Given the description of an element on the screen output the (x, y) to click on. 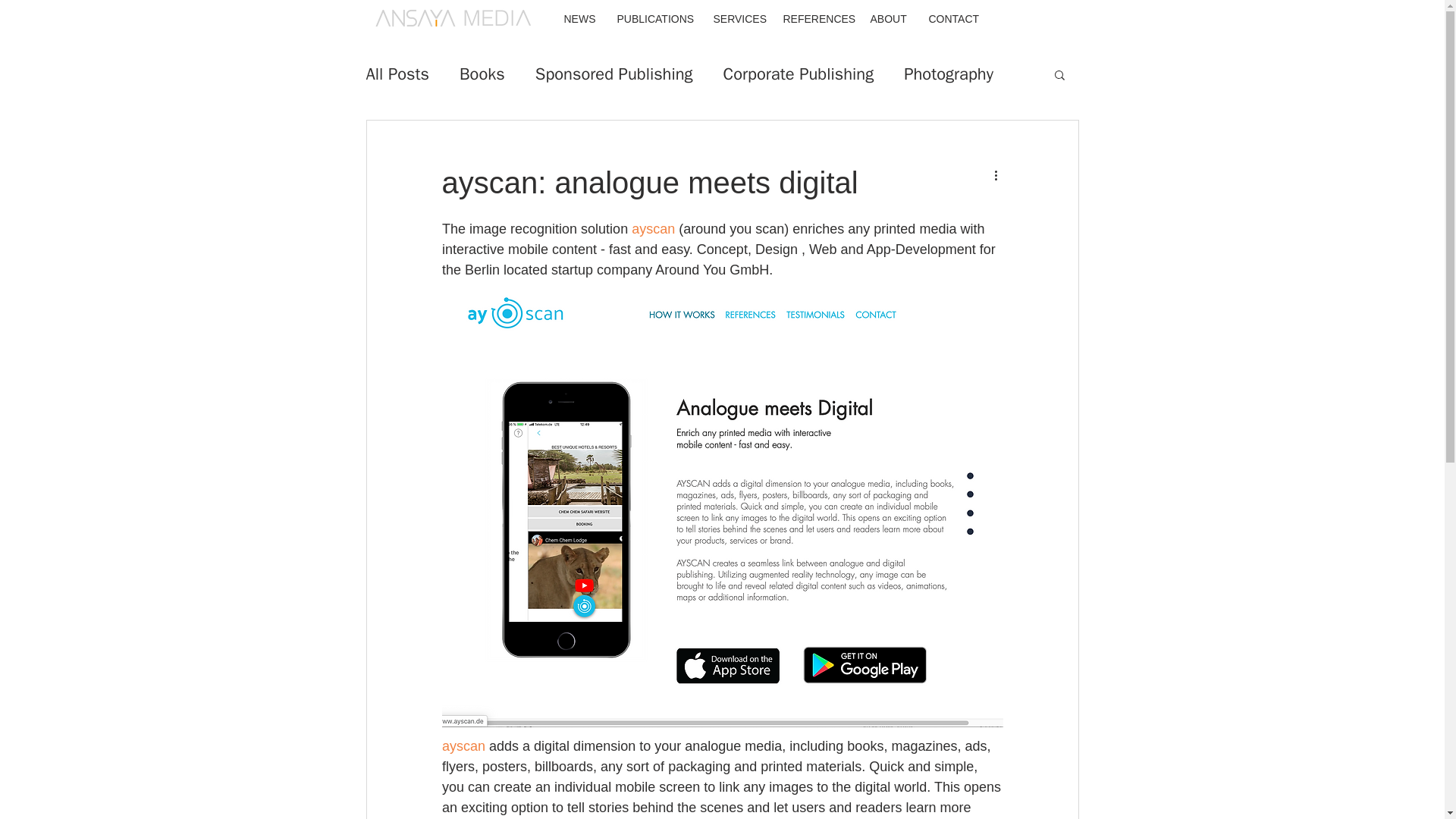
Sponsored Publishing (614, 74)
Books (482, 74)
NEWS (578, 18)
All Posts (397, 74)
REFERENCES (815, 18)
CONTACT (952, 18)
ayscan (653, 228)
ayscan (462, 745)
Corporate Publishing (799, 74)
ABOUT (888, 18)
